Given the description of an element on the screen output the (x, y) to click on. 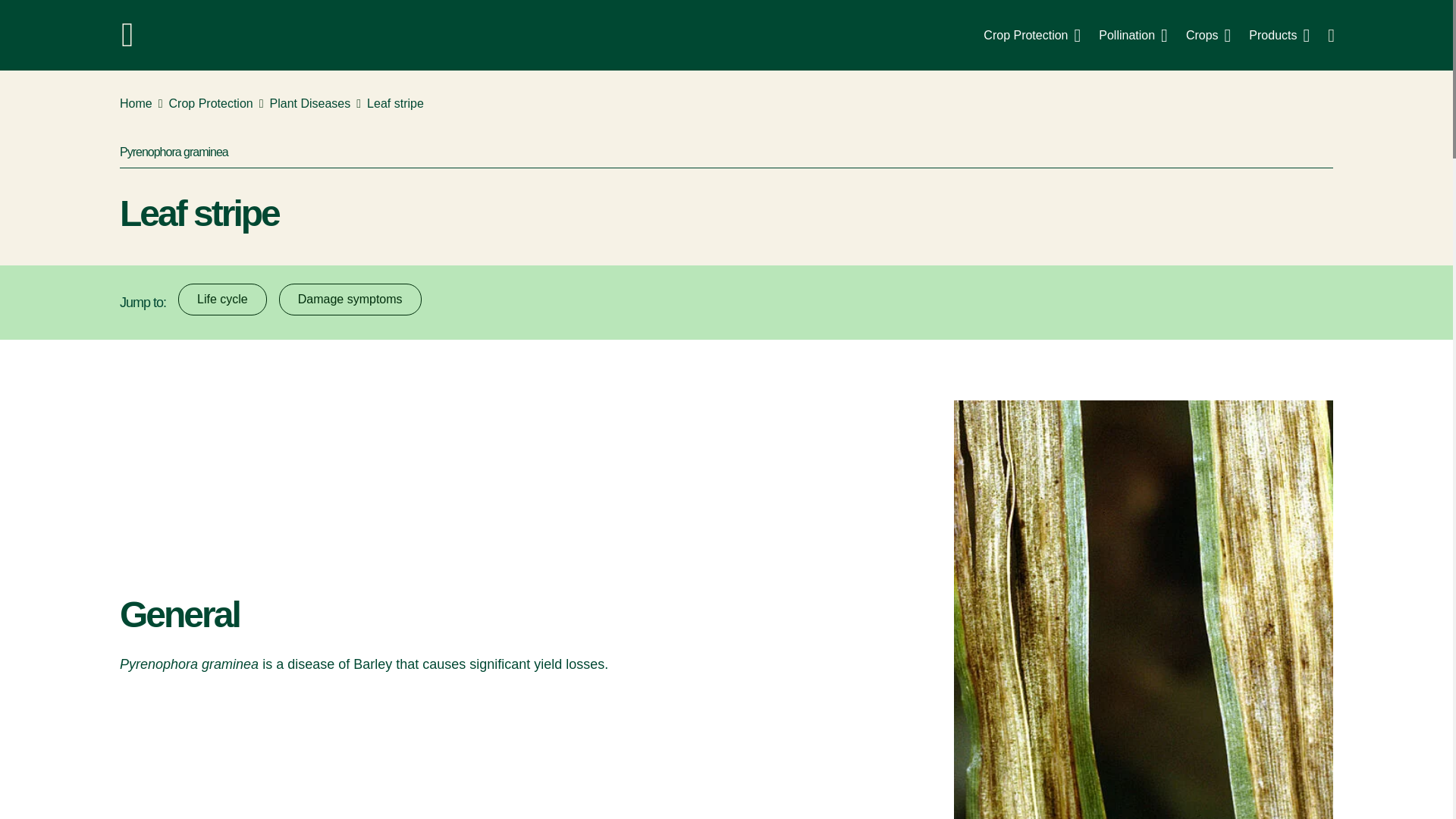
Crop Protection (1032, 34)
Damage symptoms (350, 299)
Crop Protection (210, 104)
Home (135, 104)
Plant Diseases (309, 104)
Crops (1208, 34)
Life cycle (221, 299)
Pollination (1133, 34)
Products (1278, 34)
